Given the description of an element on the screen output the (x, y) to click on. 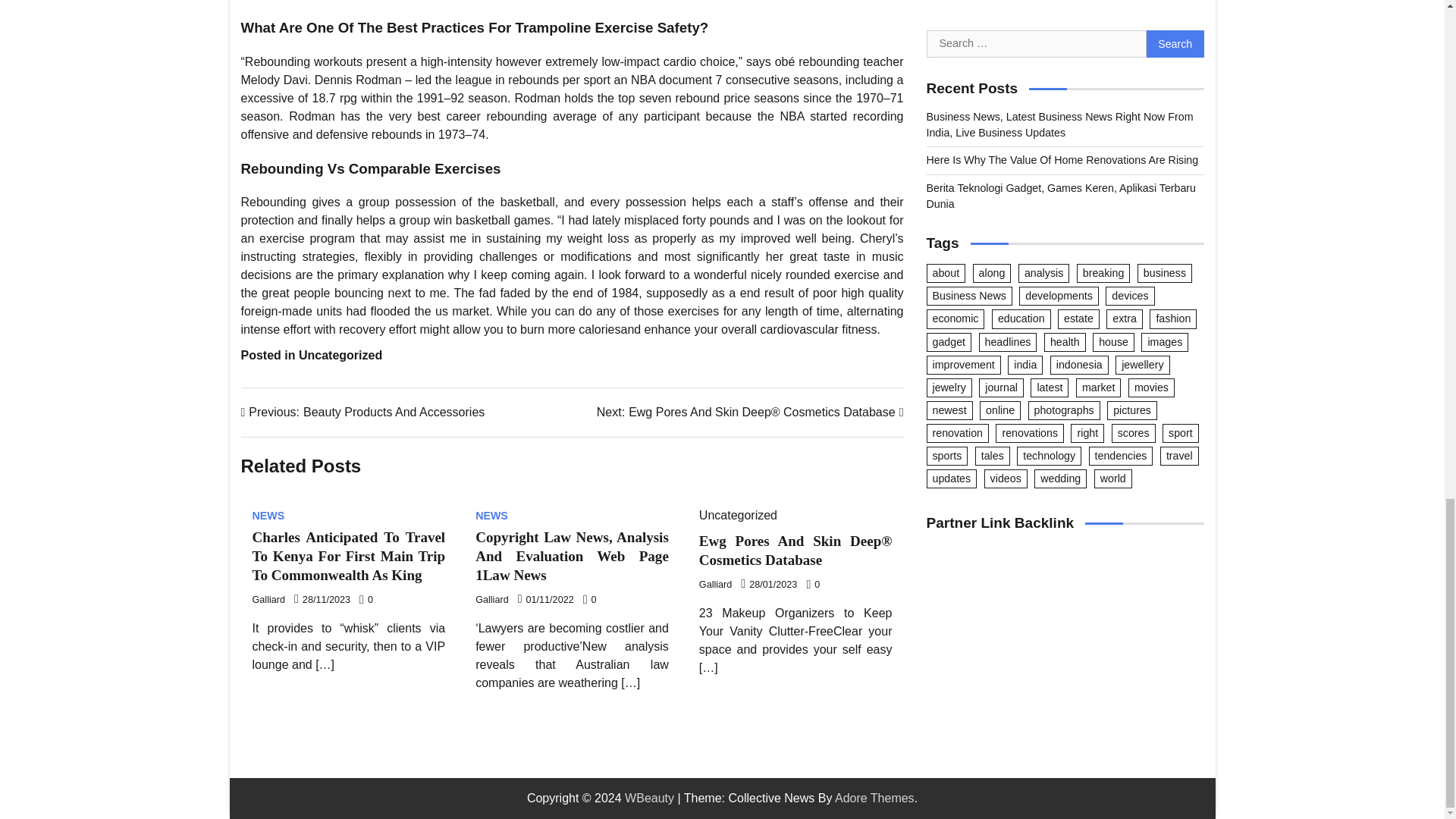
Galliard (715, 584)
Galliard (362, 412)
NEWS (492, 599)
Galliard (267, 515)
NEWS (268, 599)
